Given the description of an element on the screen output the (x, y) to click on. 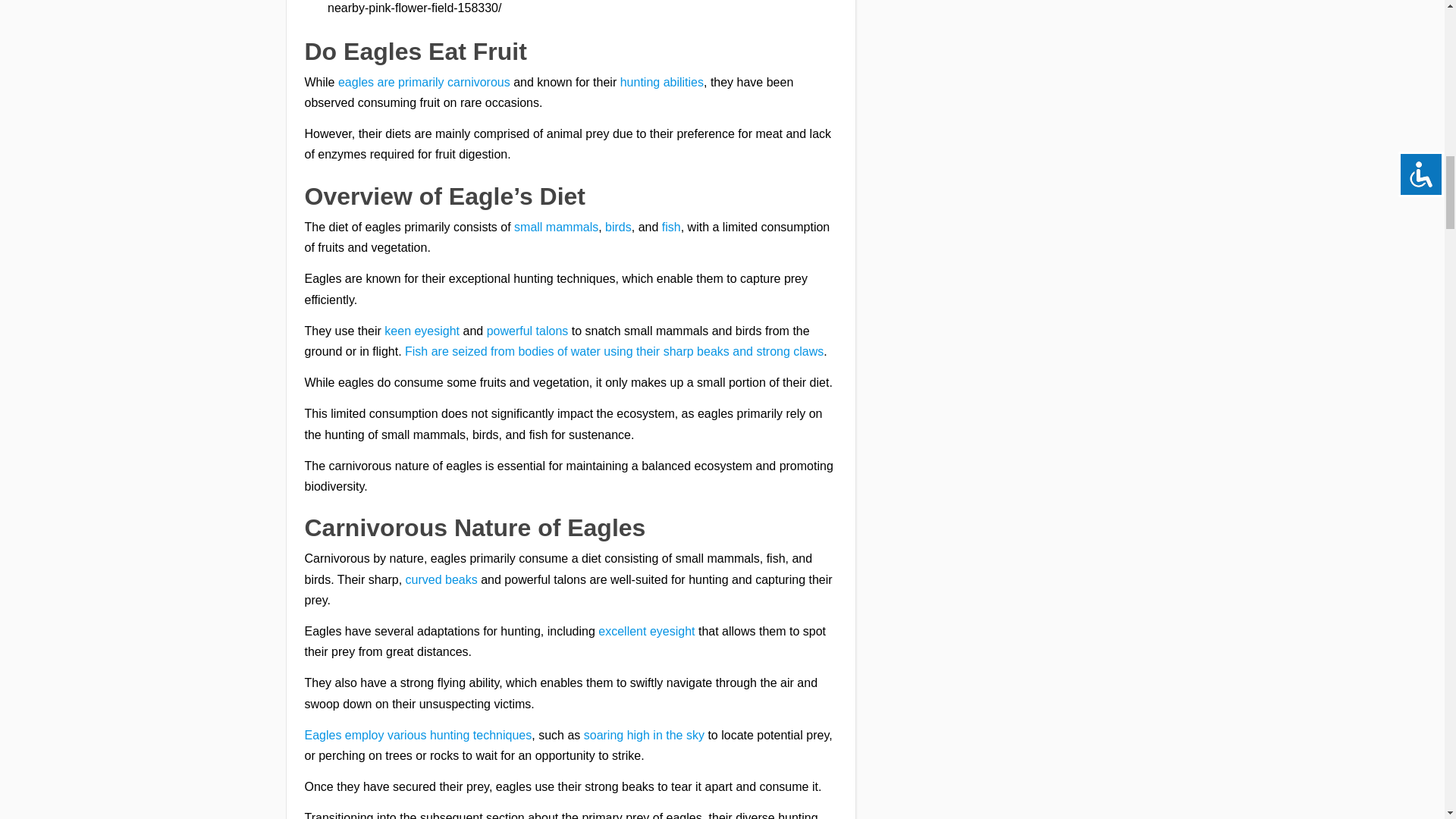
hunting abilities (661, 82)
eagles are primarily carnivorous (424, 82)
small mammals (555, 226)
